Given the description of an element on the screen output the (x, y) to click on. 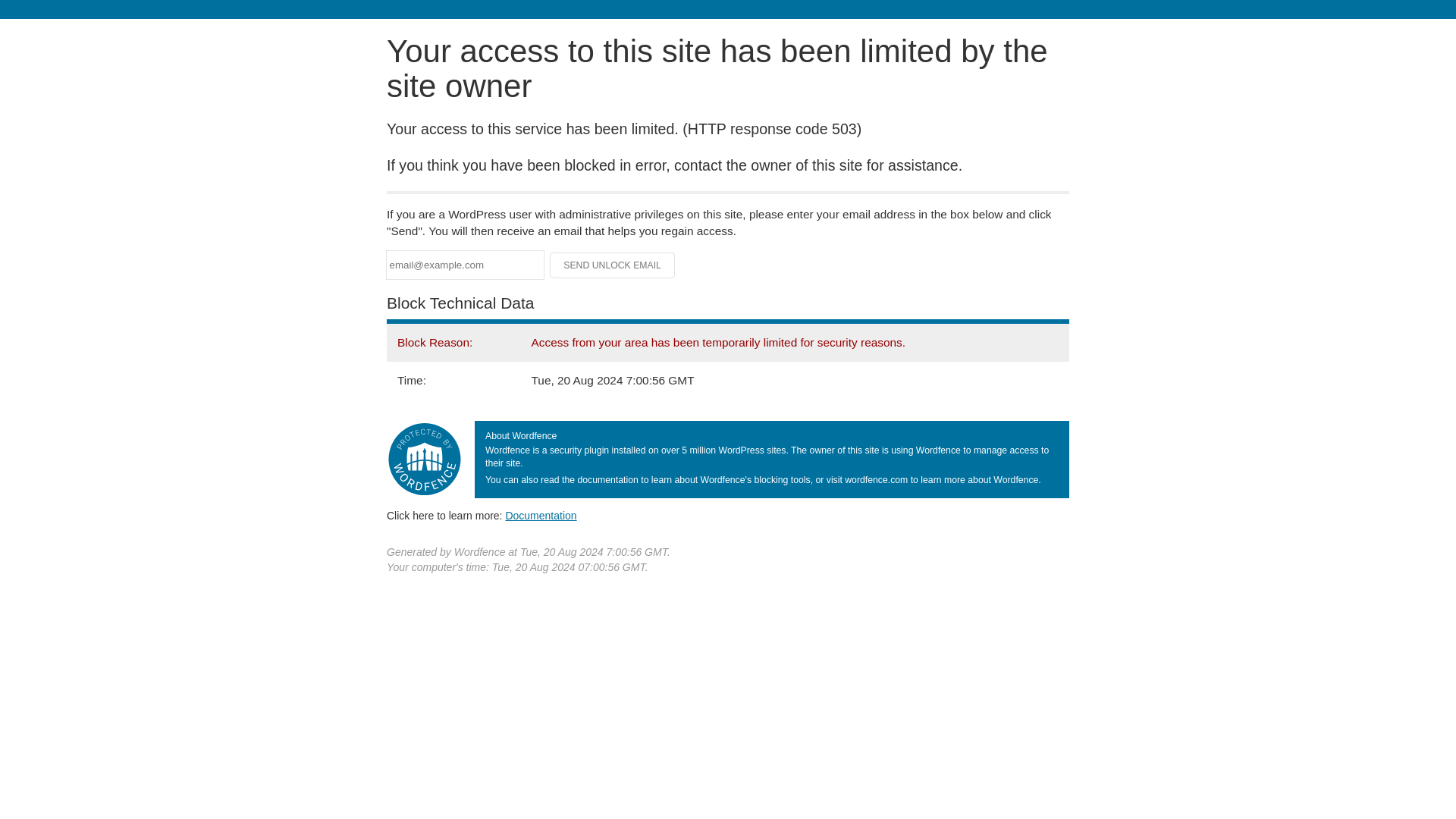
Send Unlock Email (612, 265)
Documentation (540, 515)
Send Unlock Email (612, 265)
